Given the description of an element on the screen output the (x, y) to click on. 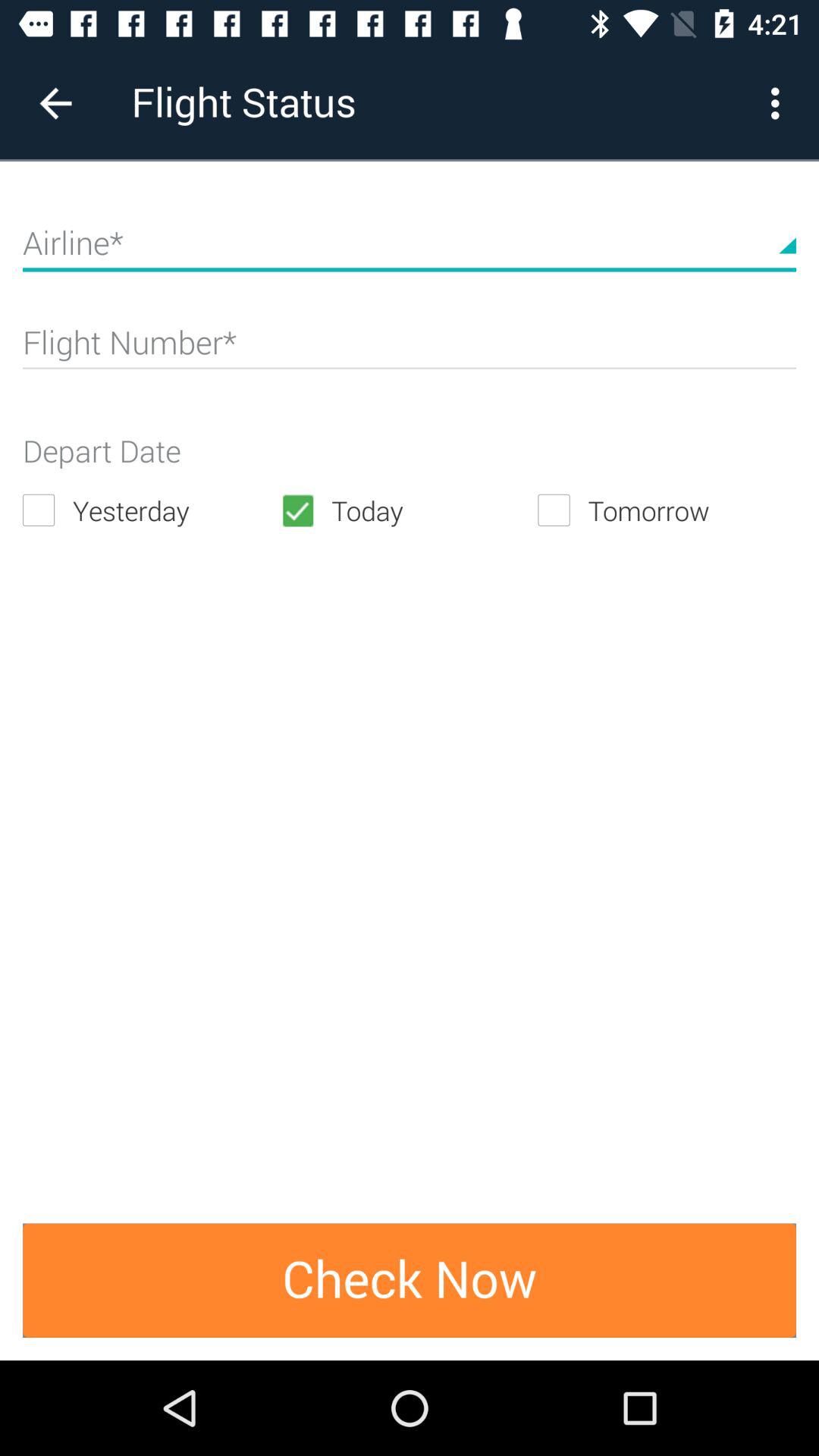
turn on the check now (409, 1280)
